Given the description of an element on the screen output the (x, y) to click on. 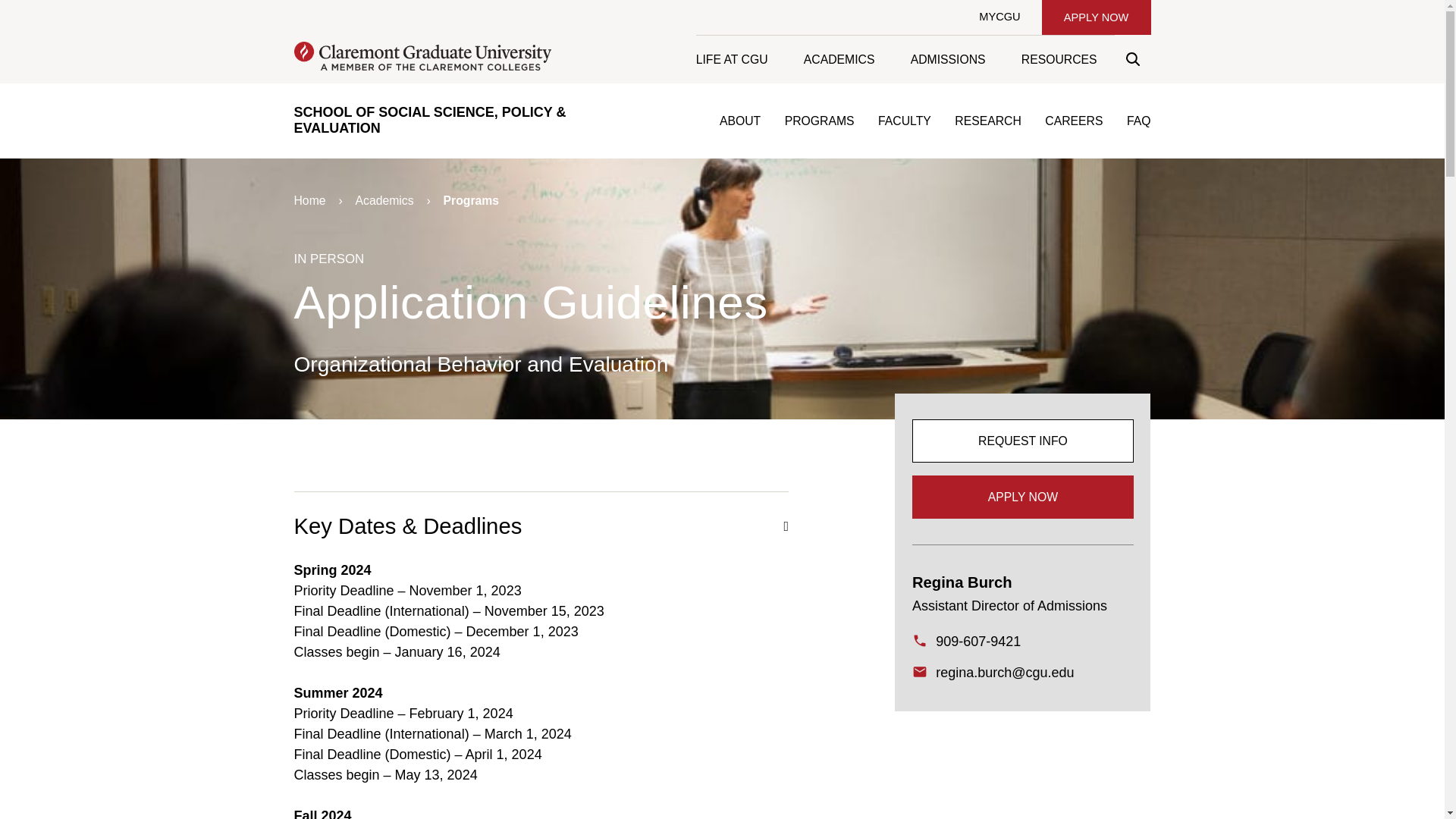
APPLY NOW (1096, 17)
MYCGU (1000, 16)
open search field (1132, 58)
ADMISSIONS (947, 59)
LIFE AT CGU (740, 59)
ACADEMICS (839, 59)
